Given the description of an element on the screen output the (x, y) to click on. 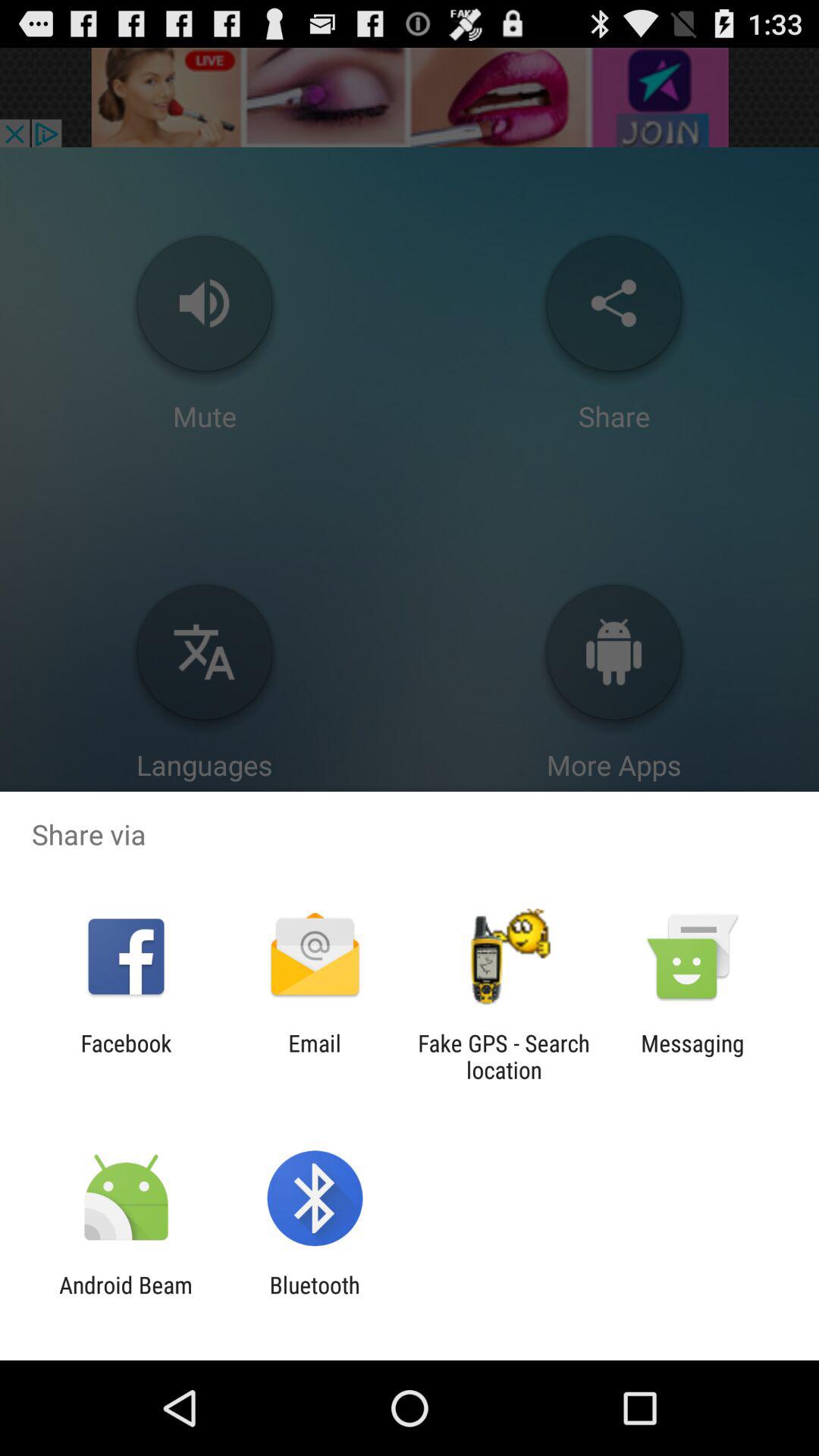
turn off the app to the right of facebook icon (314, 1056)
